Given the description of an element on the screen output the (x, y) to click on. 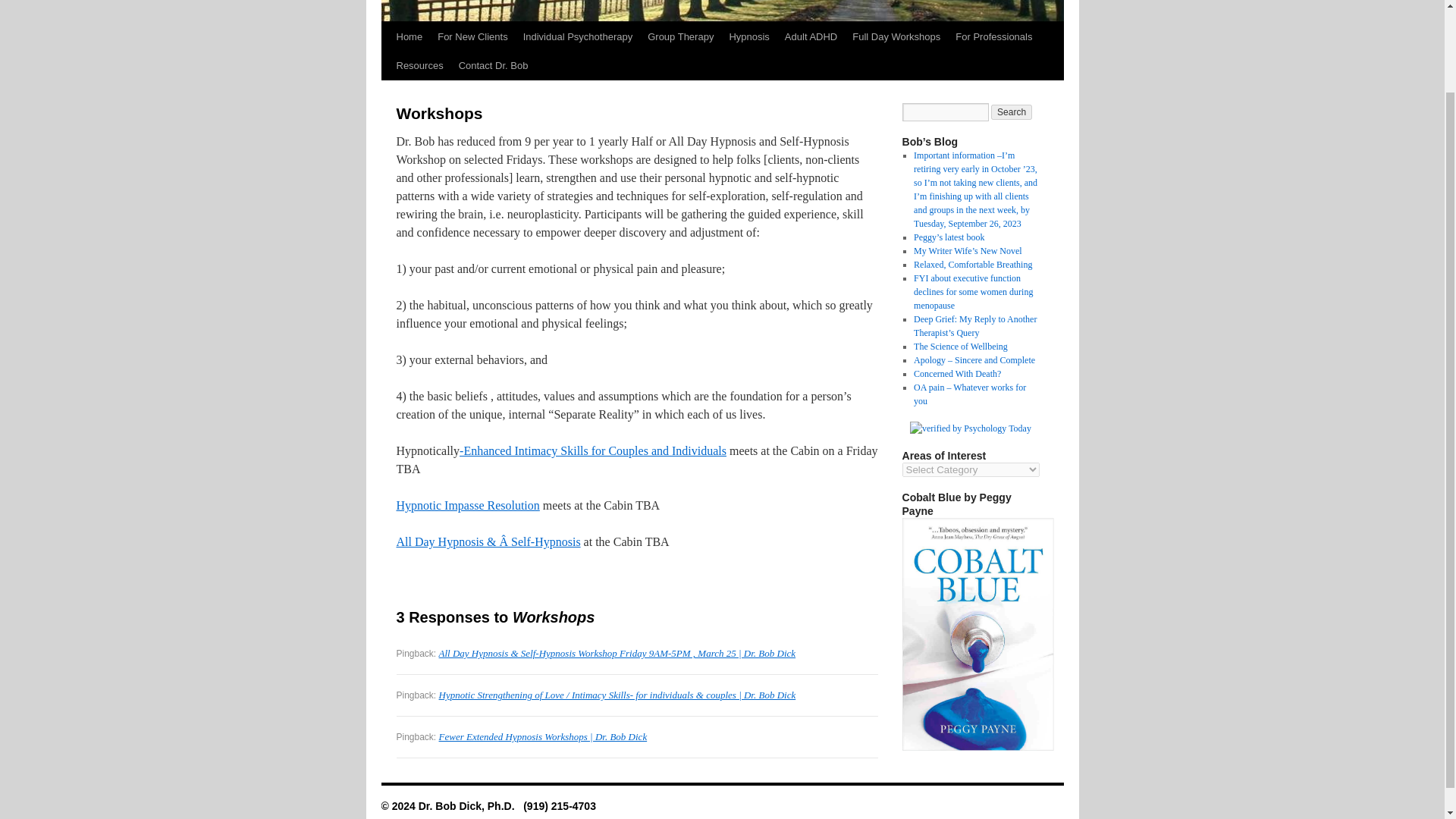
verified by Psychology Today (970, 428)
Dr. Bob Dick (487, 806)
Home (408, 36)
Full Day Workshops (895, 36)
Hypnosis (748, 36)
Individual Psychotherapy (577, 36)
Search (1011, 111)
Adult ADHD (810, 36)
Group Therapy (680, 36)
For New Clients (472, 36)
